Given the description of an element on the screen output the (x, y) to click on. 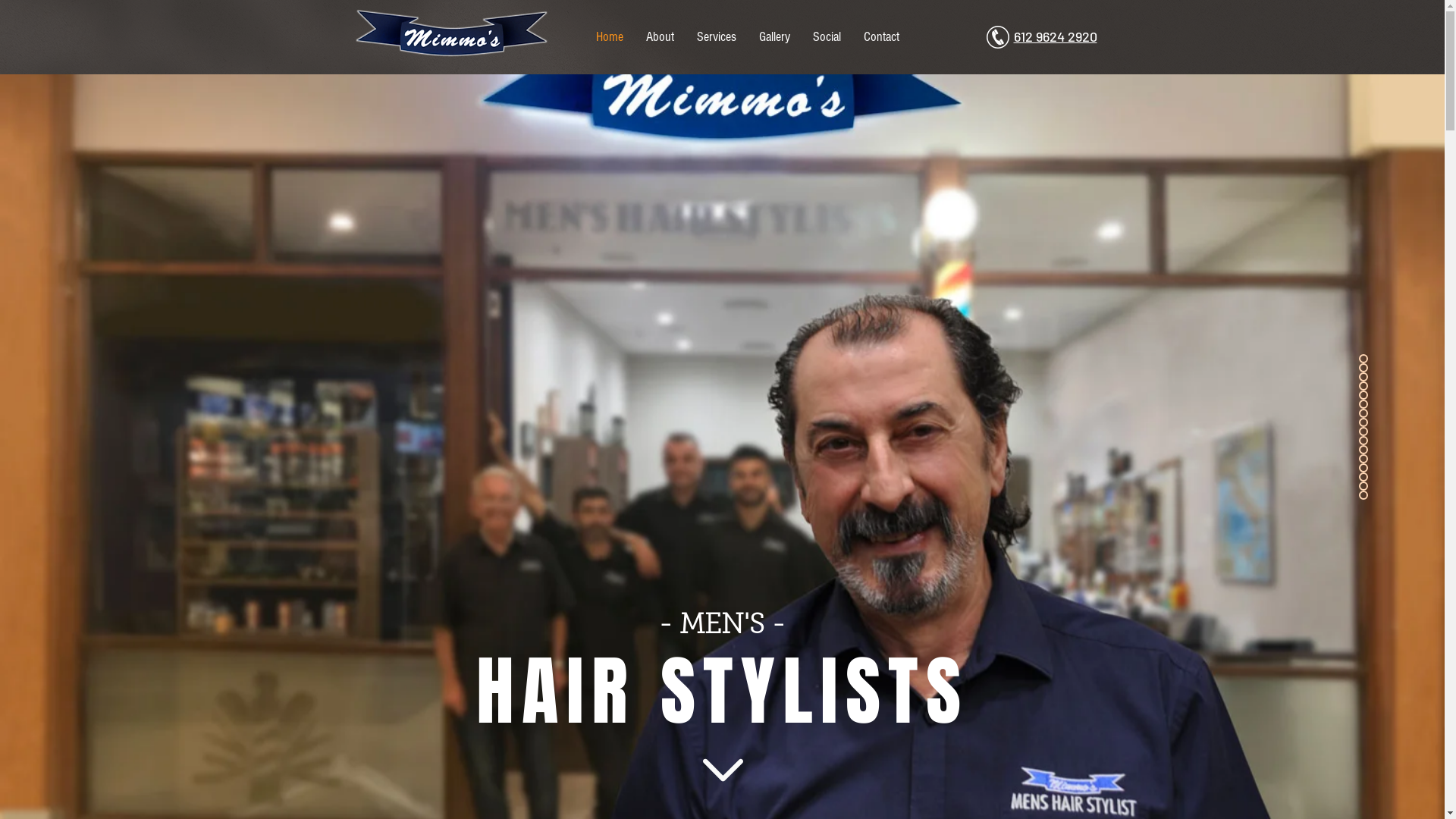
About Element type: text (659, 37)
Contact Element type: text (881, 37)
Home Element type: text (609, 37)
Services Element type: text (716, 37)
612 9624 2920 Element type: text (1054, 37)
Gallery Element type: text (774, 37)
Social Element type: text (826, 37)
